Given the description of an element on the screen output the (x, y) to click on. 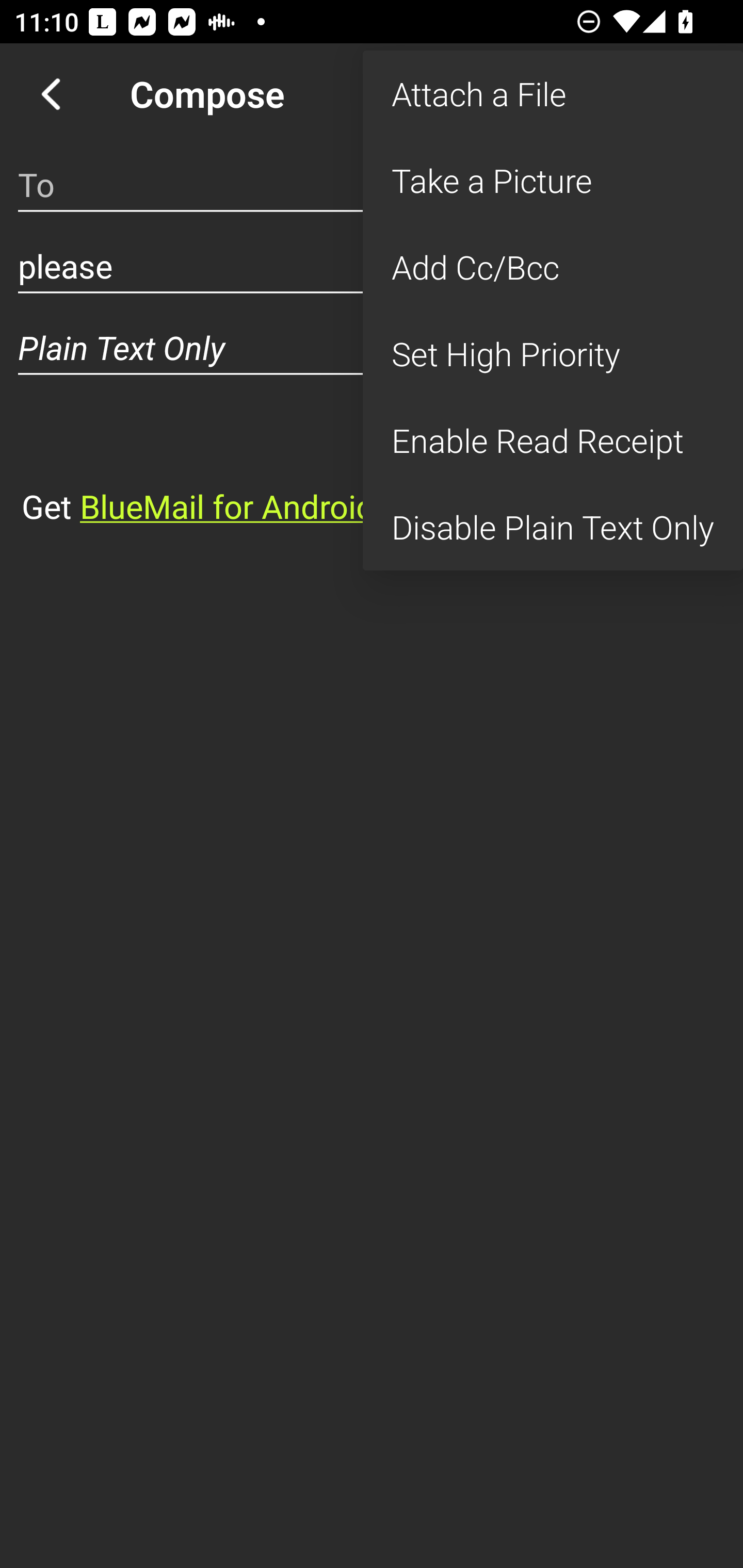
Attach a File (552, 93)
Take a Picture (552, 180)
Add Cc/Bcc (552, 267)
Set High Priority (552, 353)
Enable Read Receipt (552, 440)
Disable Plain Text Only (552, 527)
